Given the description of an element on the screen output the (x, y) to click on. 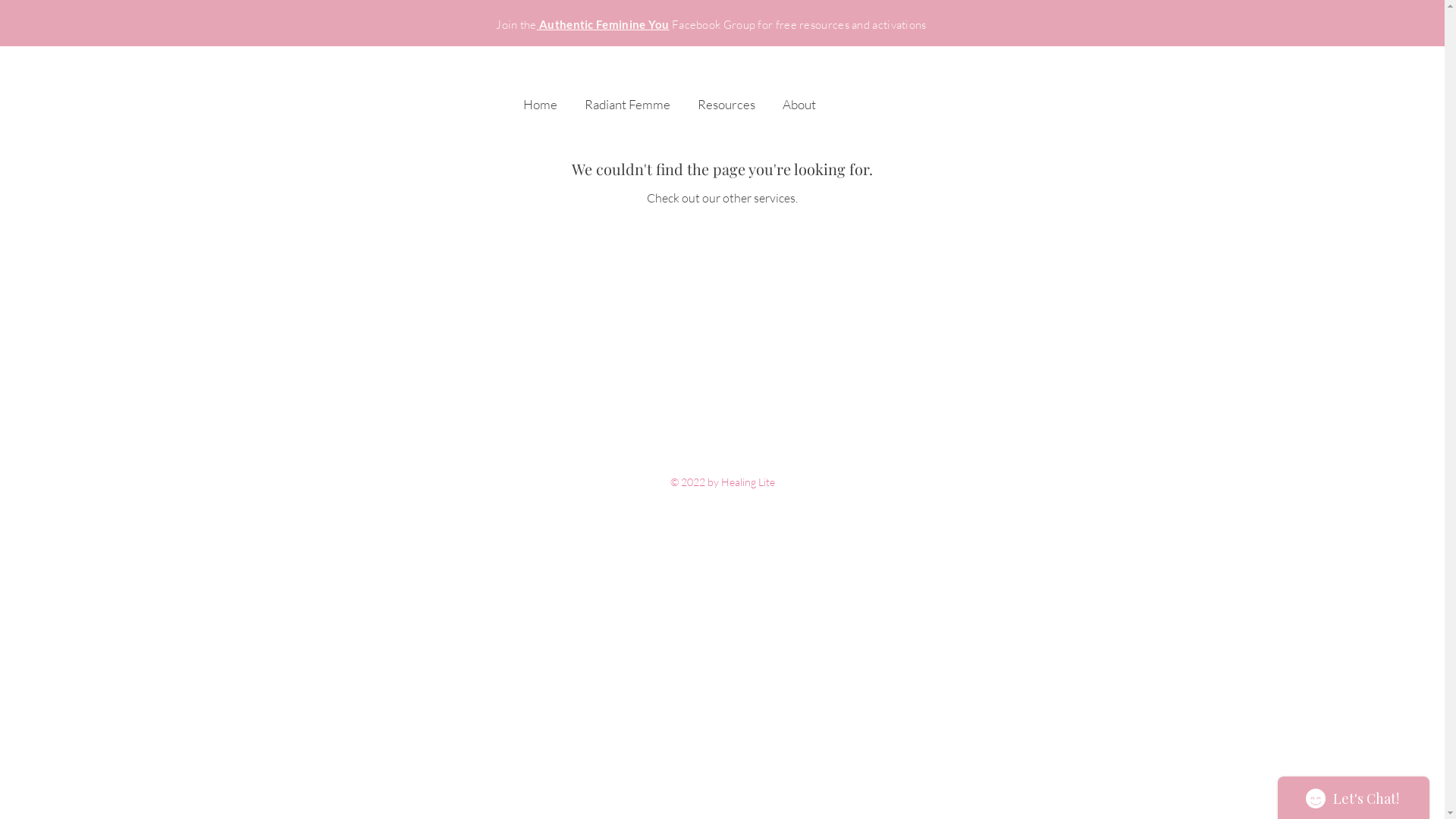
Resources Element type: text (726, 97)
& Element type: text (377, 30)
Authentic Feminine You Element type: text (602, 24)
Radiant Femme Element type: text (626, 97)
About Element type: text (798, 97)
Home Element type: text (540, 97)
